Given the description of an element on the screen output the (x, y) to click on. 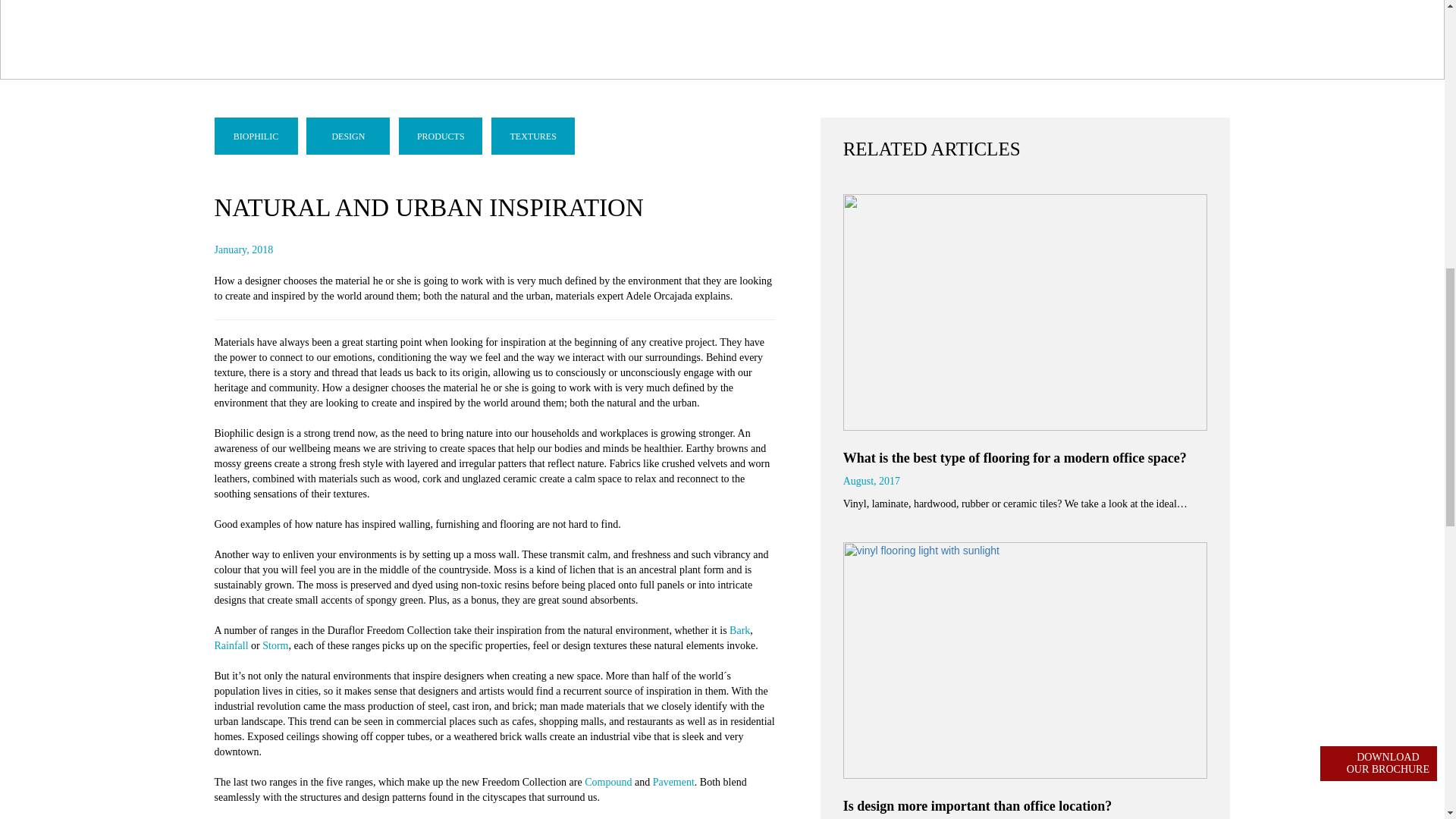
BIOPHILIC (255, 135)
TEXTURES (533, 135)
DESIGN (347, 135)
PRODUCTS (439, 135)
Rainfall (230, 645)
Storm (275, 645)
Compound (608, 781)
What is the best type of flooring for a modern office space? (1014, 458)
Pavement (673, 781)
Bark (739, 630)
